Given the description of an element on the screen output the (x, y) to click on. 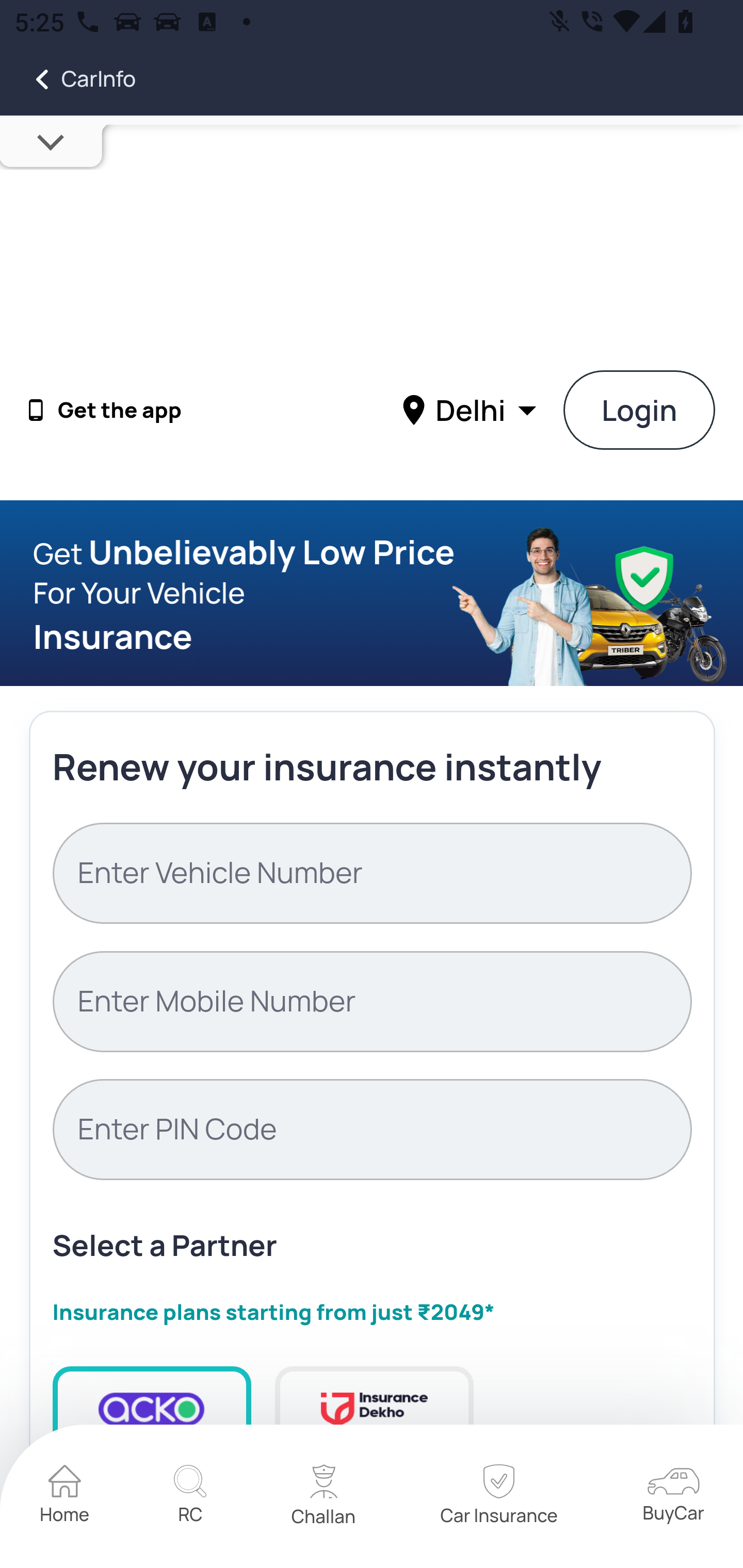
CarInfo (67, 79)
Login (639, 409)
Delhi (471, 408)
Get the app (119, 410)
home Challan home Challan (323, 1496)
home Home home Home (64, 1496)
home RC home RC (190, 1496)
home Car Insurance home Car Insurance (497, 1497)
home BuyCar home BuyCar (672, 1496)
